Given the description of an element on the screen output the (x, y) to click on. 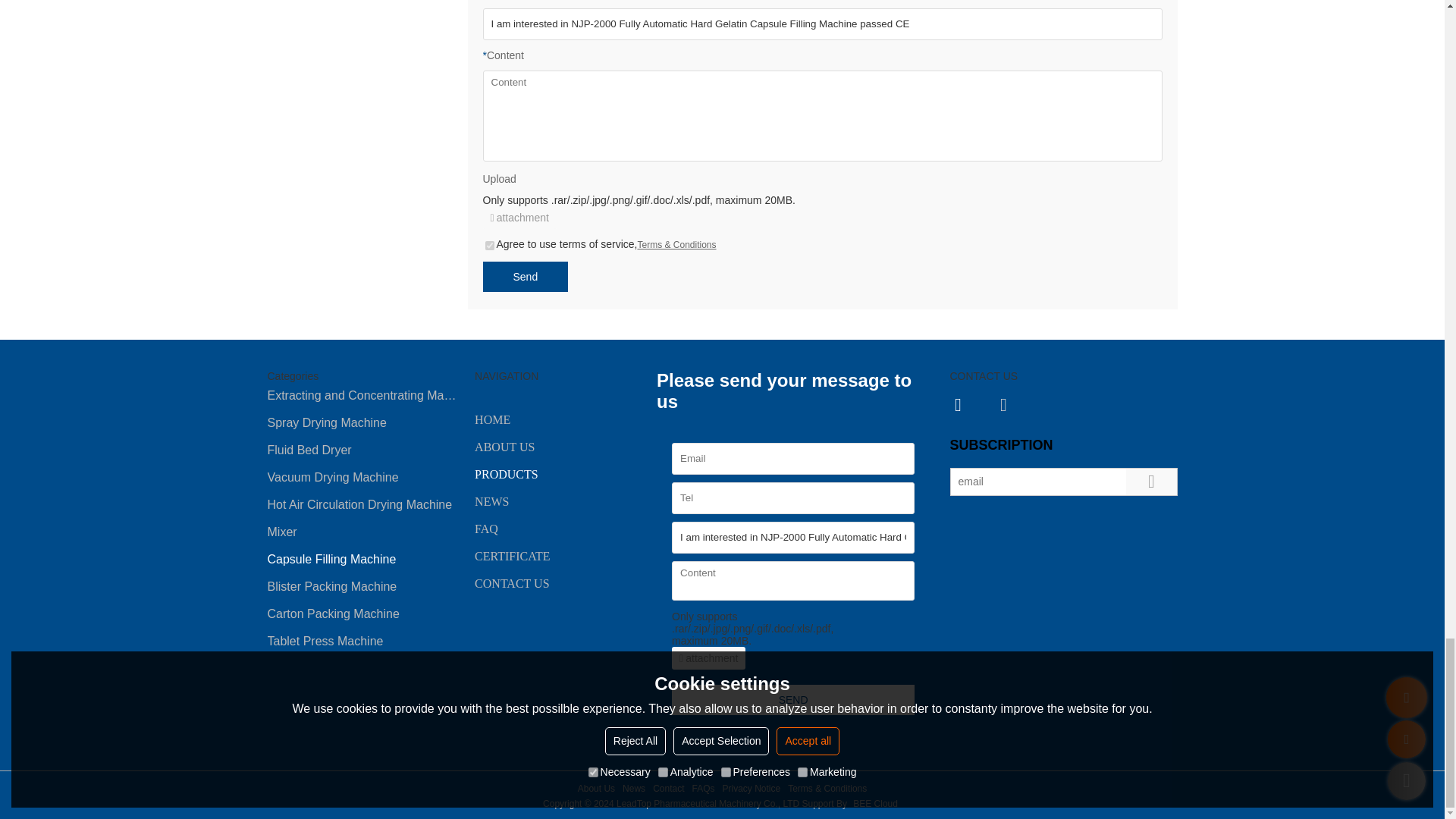
on (489, 245)
